Given the description of an element on the screen output the (x, y) to click on. 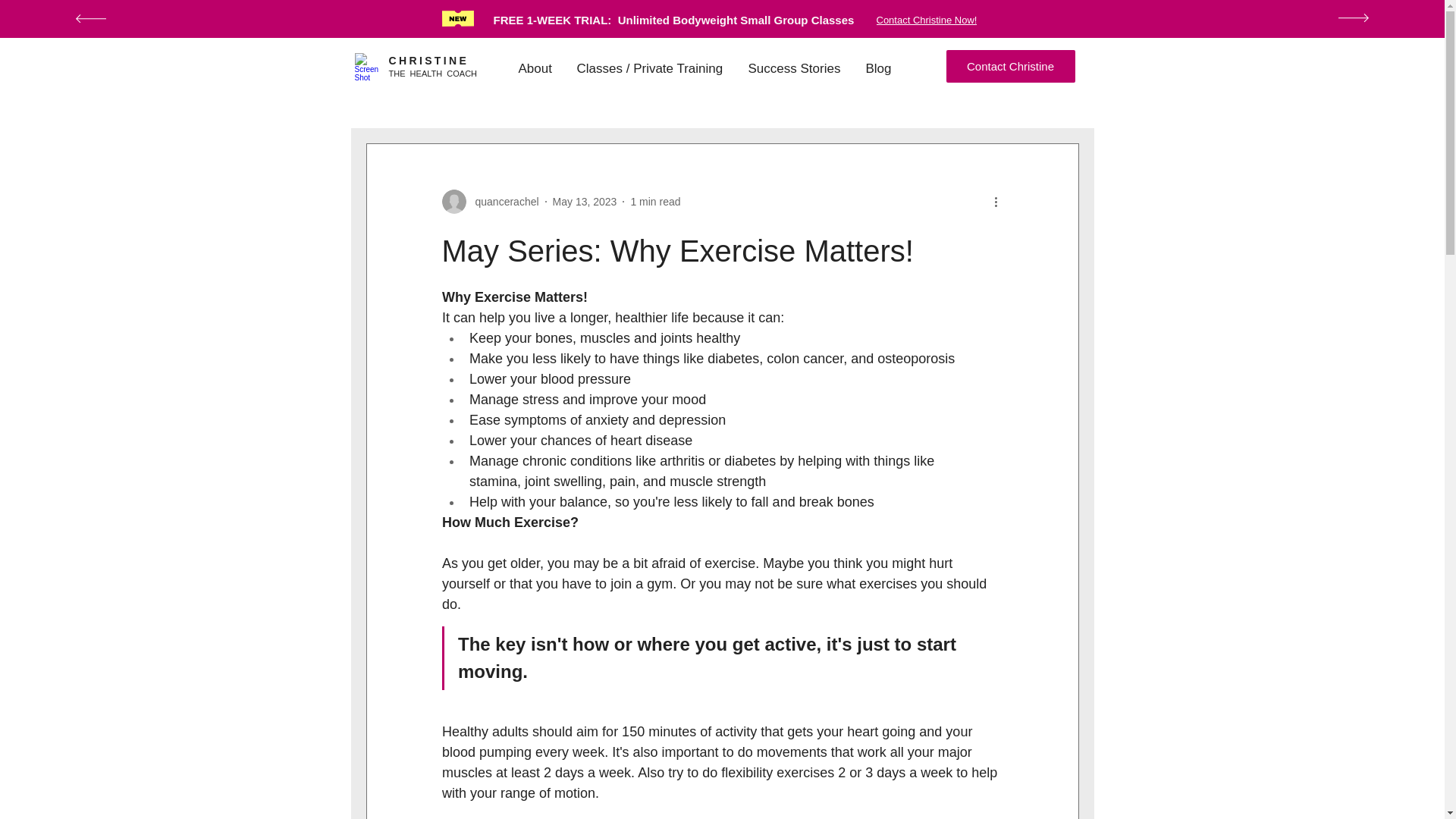
Contact Christine (1010, 65)
Contact Christine Now! (949, 19)
CHRISTINE (428, 60)
quancerachel (501, 201)
About (535, 68)
quancerachel (489, 201)
1 min read (654, 201)
Blog (878, 68)
May 13, 2023 (585, 201)
Success Stories (795, 68)
